Given the description of an element on the screen output the (x, y) to click on. 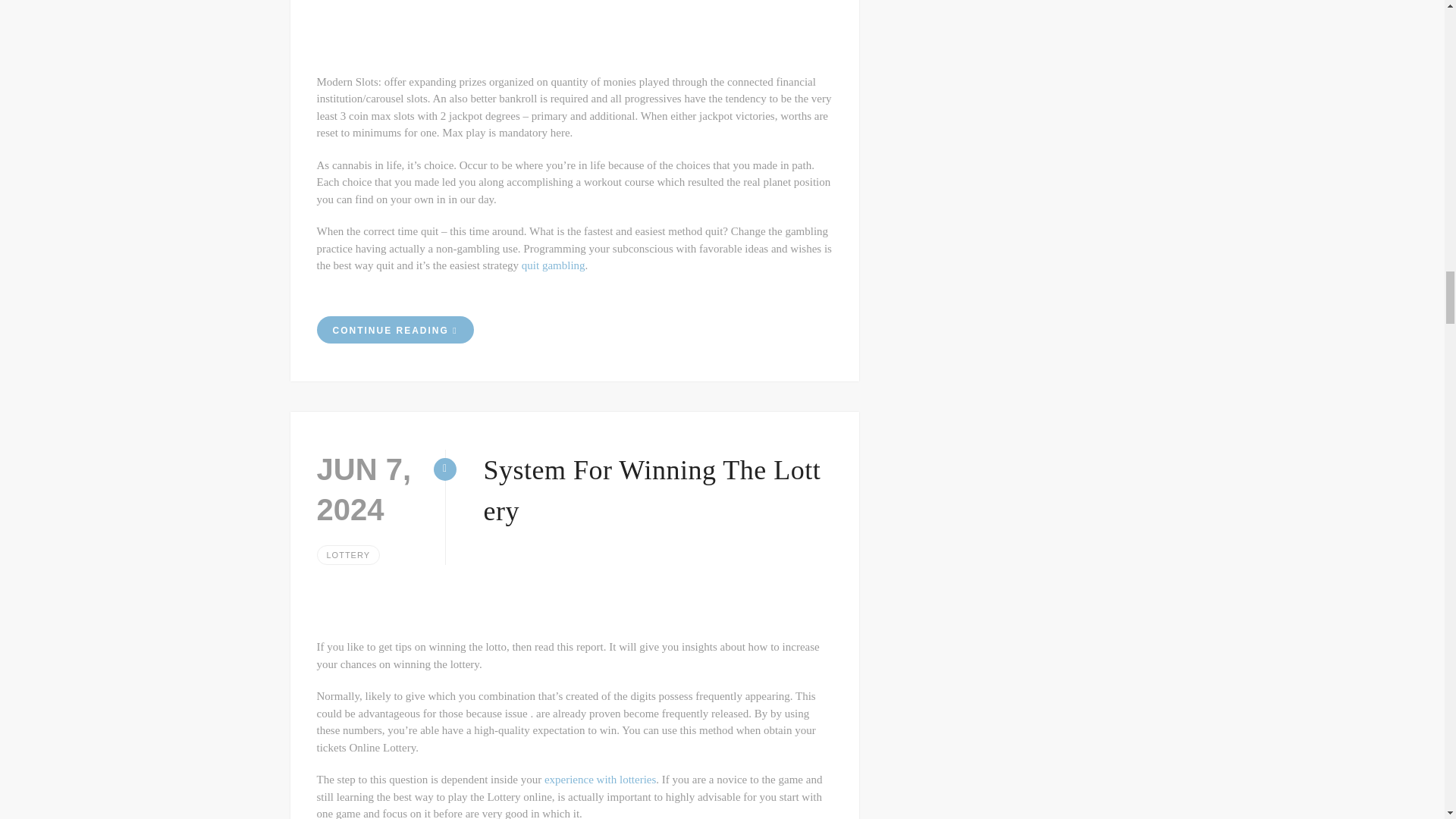
LOTTERY (348, 555)
System For Winning The Lottery (652, 490)
CONTINUE READING (395, 329)
experience with lotteries (600, 779)
quit gambling (553, 265)
